Given the description of an element on the screen output the (x, y) to click on. 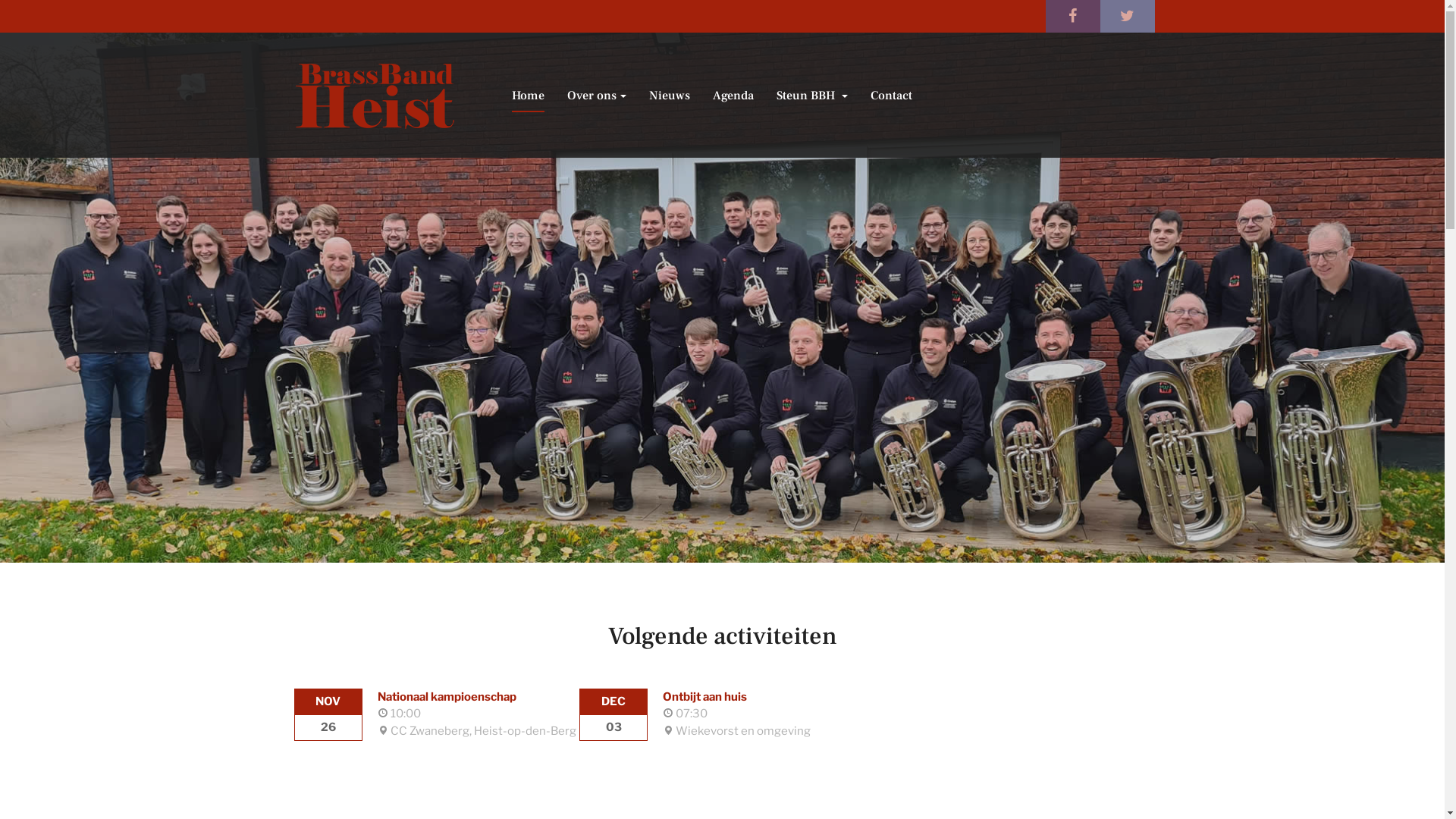
Ontbijt aan huis Element type: text (704, 696)
Nationaal kampioenschap Element type: text (446, 696)
Agenda Element type: text (732, 95)
Steun BBH Element type: text (811, 95)
Brass Band Heist Element type: hover (374, 94)
Nieuws Element type: text (669, 95)
Contact Element type: text (891, 95)
Home Element type: text (527, 95)
